Given the description of an element on the screen output the (x, y) to click on. 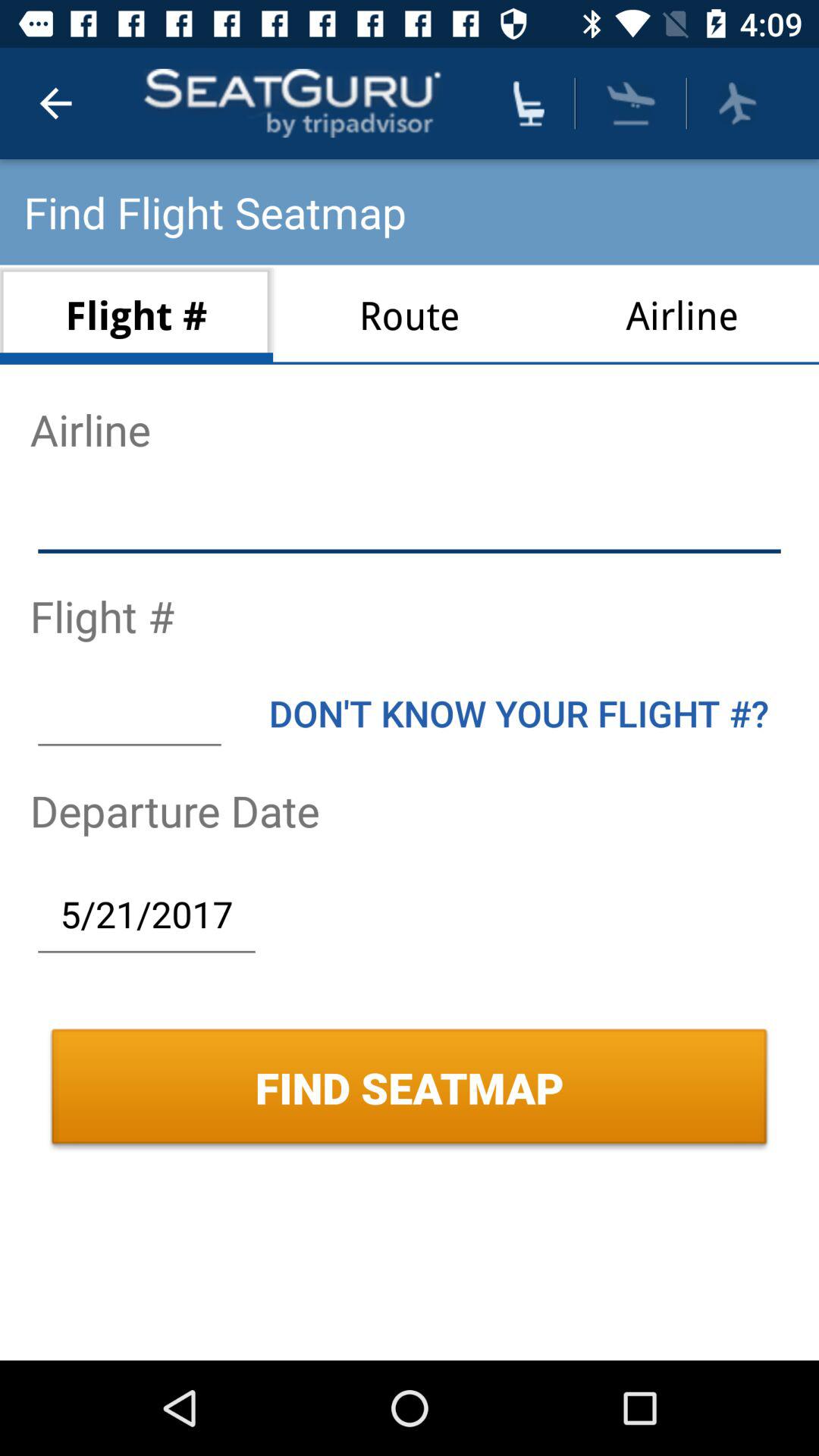
flight options (737, 103)
